Given the description of an element on the screen output the (x, y) to click on. 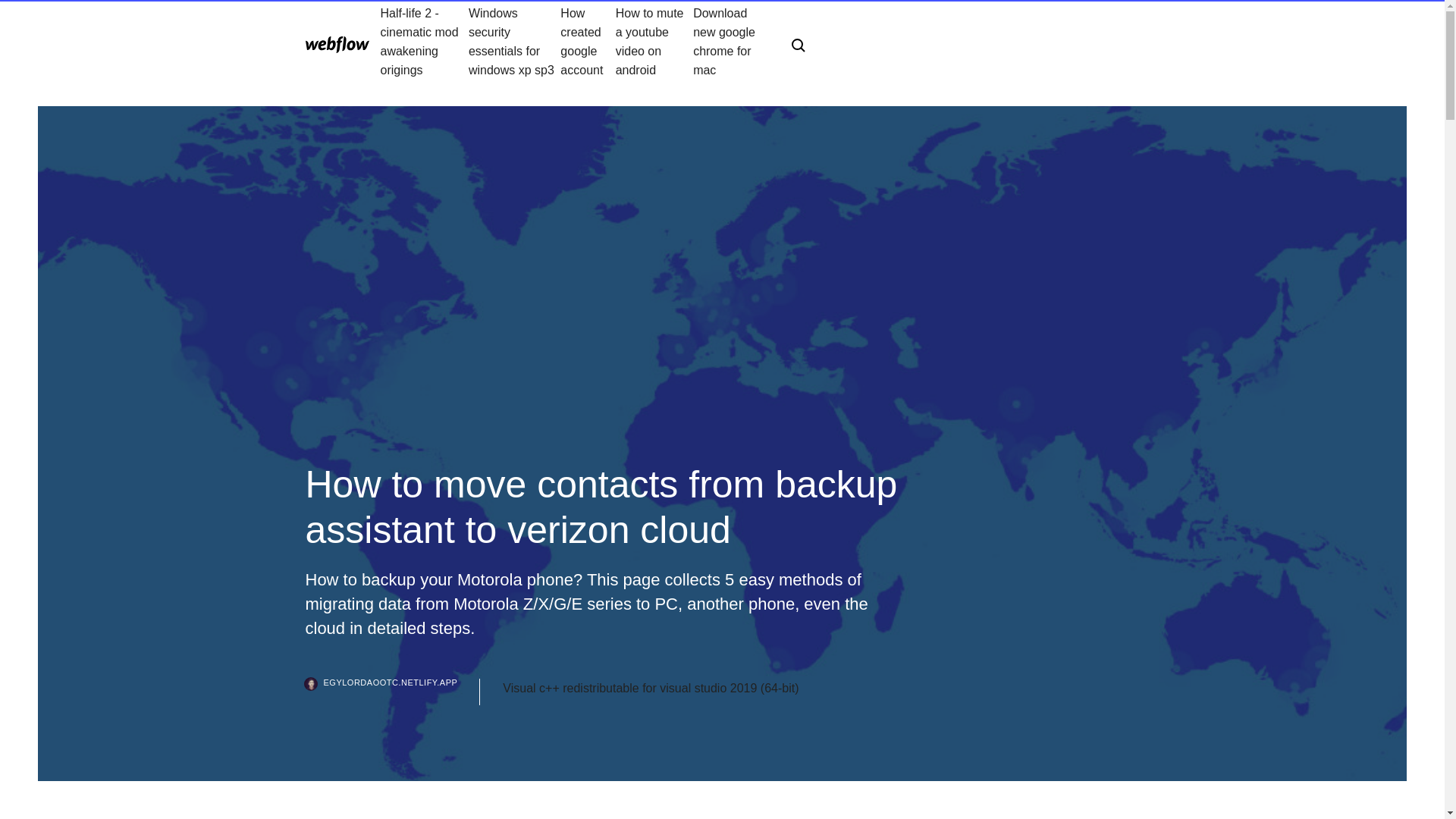
Half-life 2 - cinematic mod awakening origings (424, 41)
Windows security essentials for windows xp sp3 (514, 41)
How created google account (587, 41)
EGYLORDAOOTC.NETLIFY.APP (392, 691)
Download new google chrome for mac (730, 41)
How to mute a youtube video on android (654, 41)
